Given the description of an element on the screen output the (x, y) to click on. 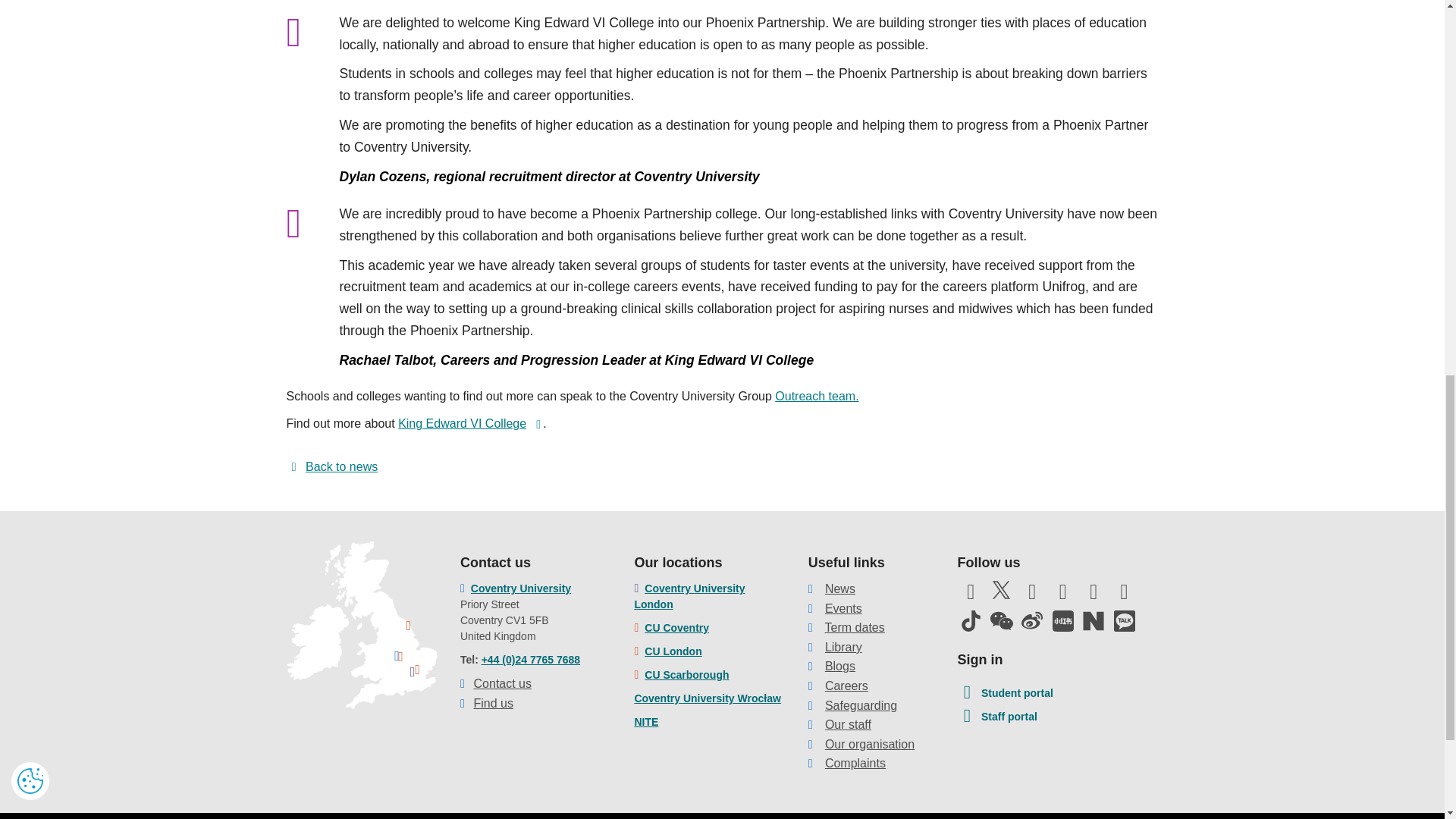
Complaints (855, 762)
Library (843, 646)
Follow us on Instagram (1063, 595)
Follow us on TikTok (970, 620)
News (840, 588)
Blogs (840, 666)
Our staff (847, 724)
Term dates (855, 626)
Careers (846, 685)
Subscribe to our YouTube Channel (1031, 595)
